Given the description of an element on the screen output the (x, y) to click on. 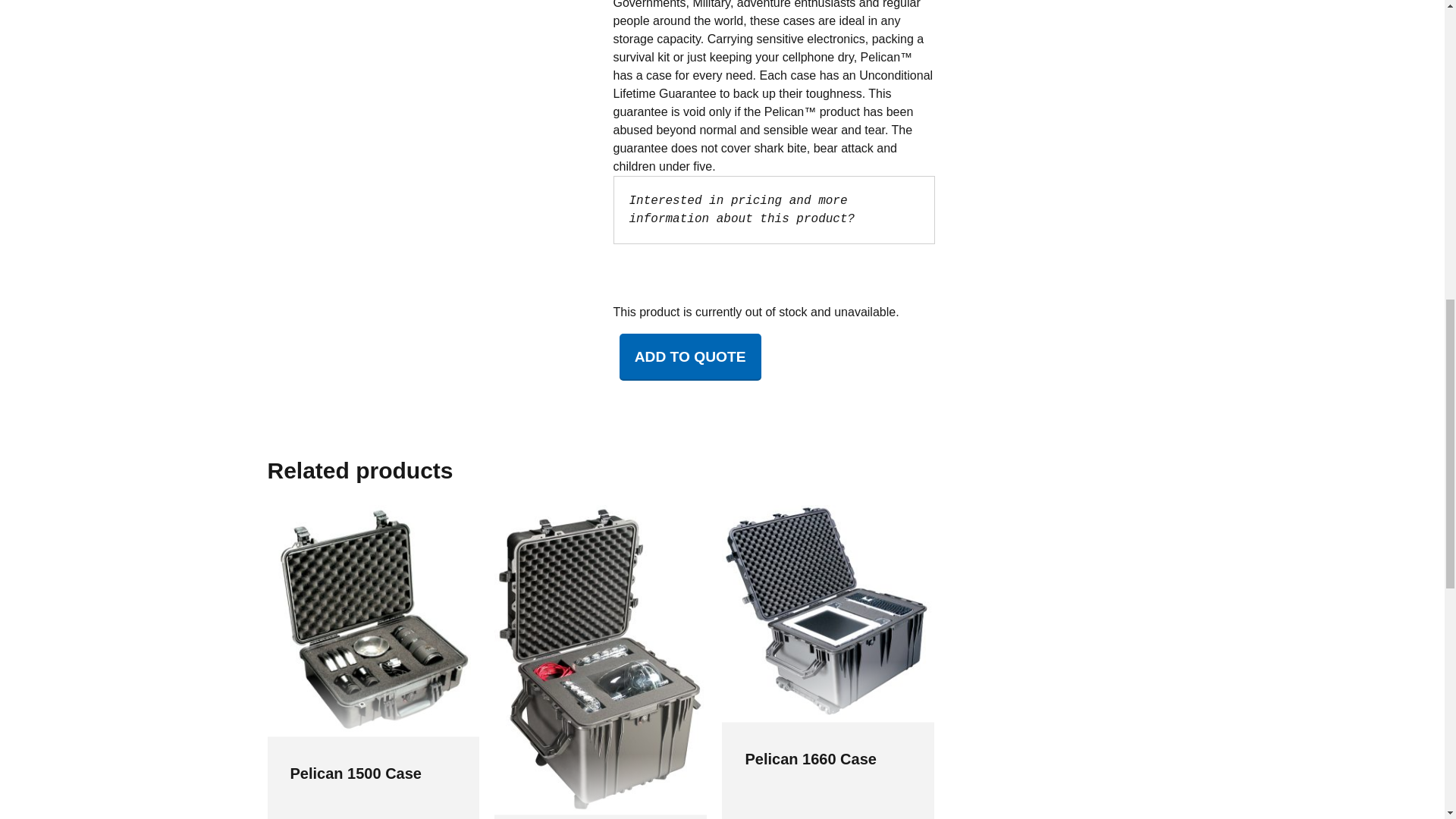
pelican-1500.jpg (372, 621)
Pelican 1500 Case (354, 773)
Pelican 1660 Case (810, 759)
pelican-1660.jpg (828, 613)
